Given the description of an element on the screen output the (x, y) to click on. 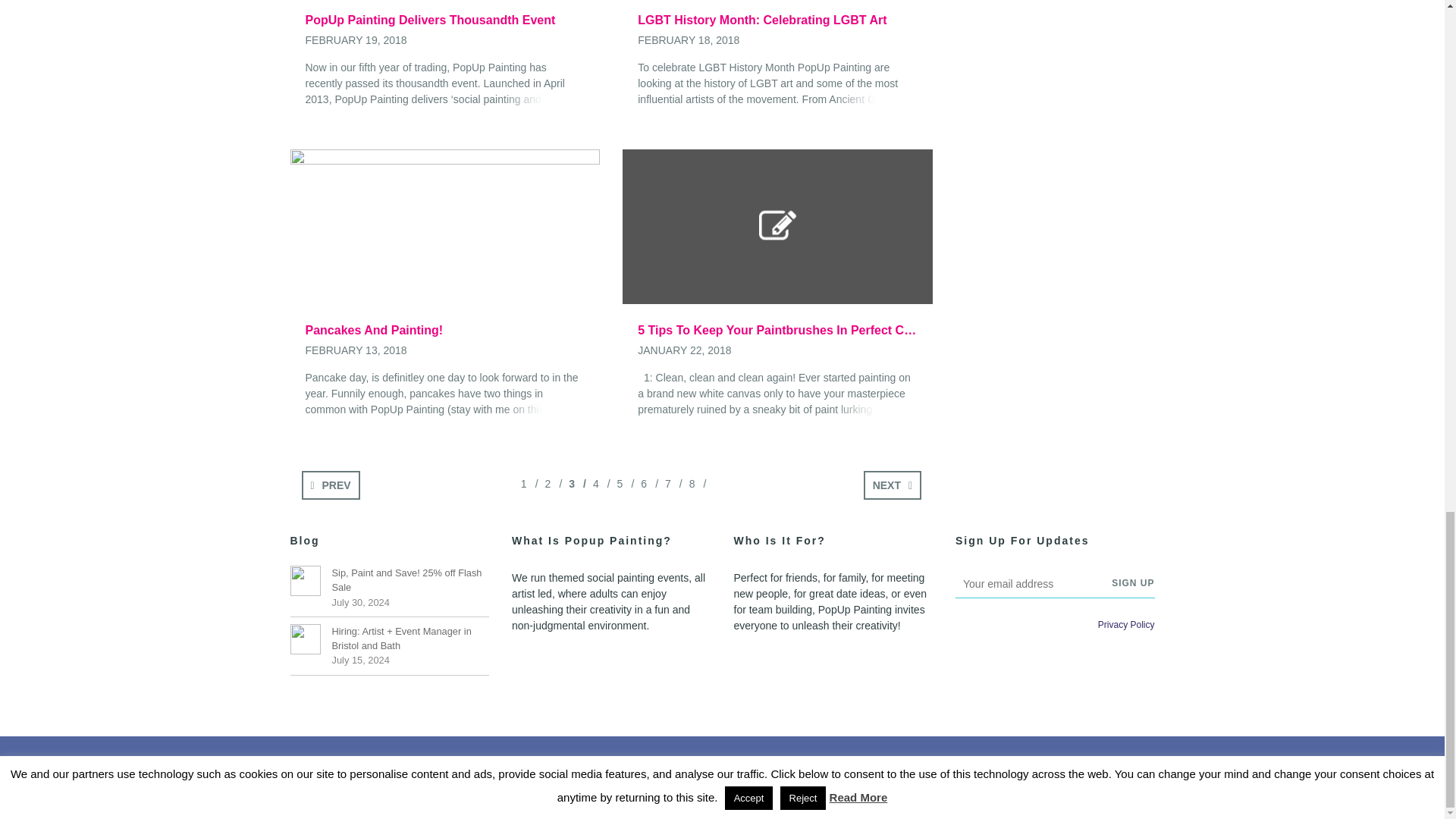
Sign up (1133, 583)
